Given the description of an element on the screen output the (x, y) to click on. 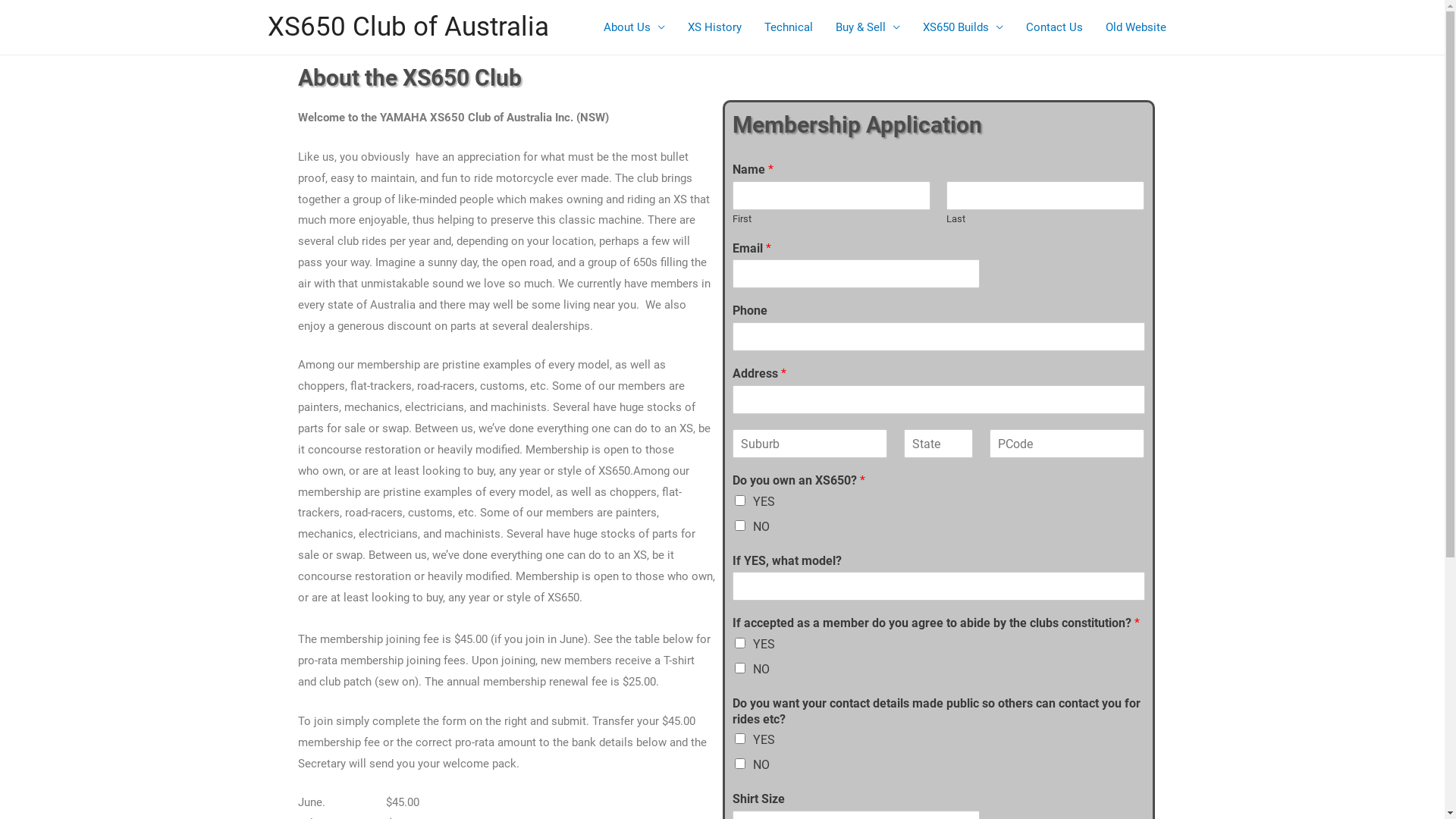
Technical Element type: text (787, 26)
XS650 Builds Element type: text (962, 26)
XS History Element type: text (714, 26)
About Us Element type: text (633, 26)
Old Website Element type: text (1134, 26)
Buy & Sell Element type: text (866, 26)
XS650 Club of Australia Element type: text (407, 26)
Contact Us Element type: text (1054, 26)
